Given the description of an element on the screen output the (x, y) to click on. 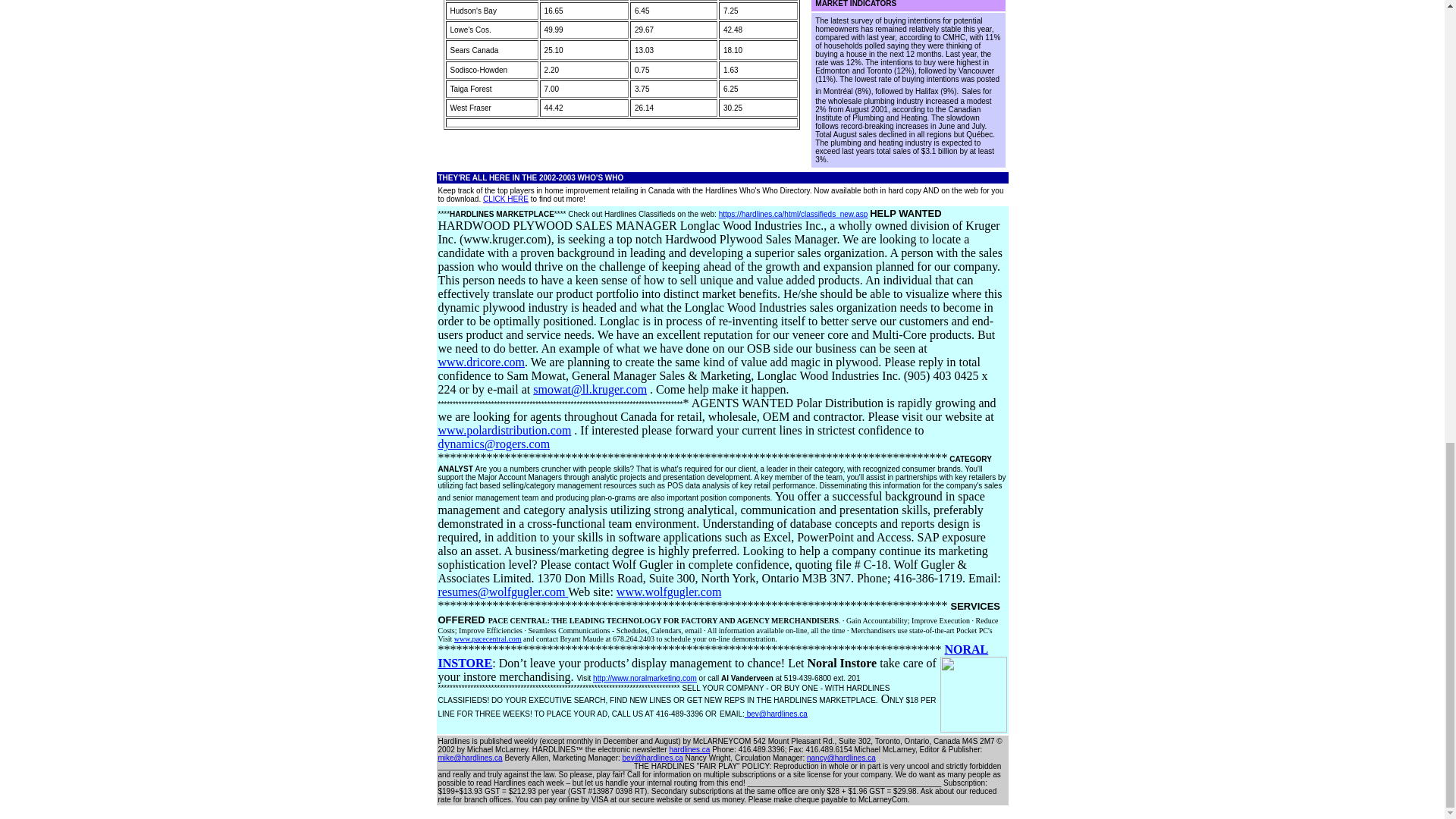
www.polardistribution.com (505, 430)
CLICK HERE (505, 198)
NORAL INSTORE (713, 655)
www.wolfgugler.com (668, 591)
www.dricore.com (481, 361)
hardlines.ca (689, 749)
www.pacecentral.com (487, 638)
